Given the description of an element on the screen output the (x, y) to click on. 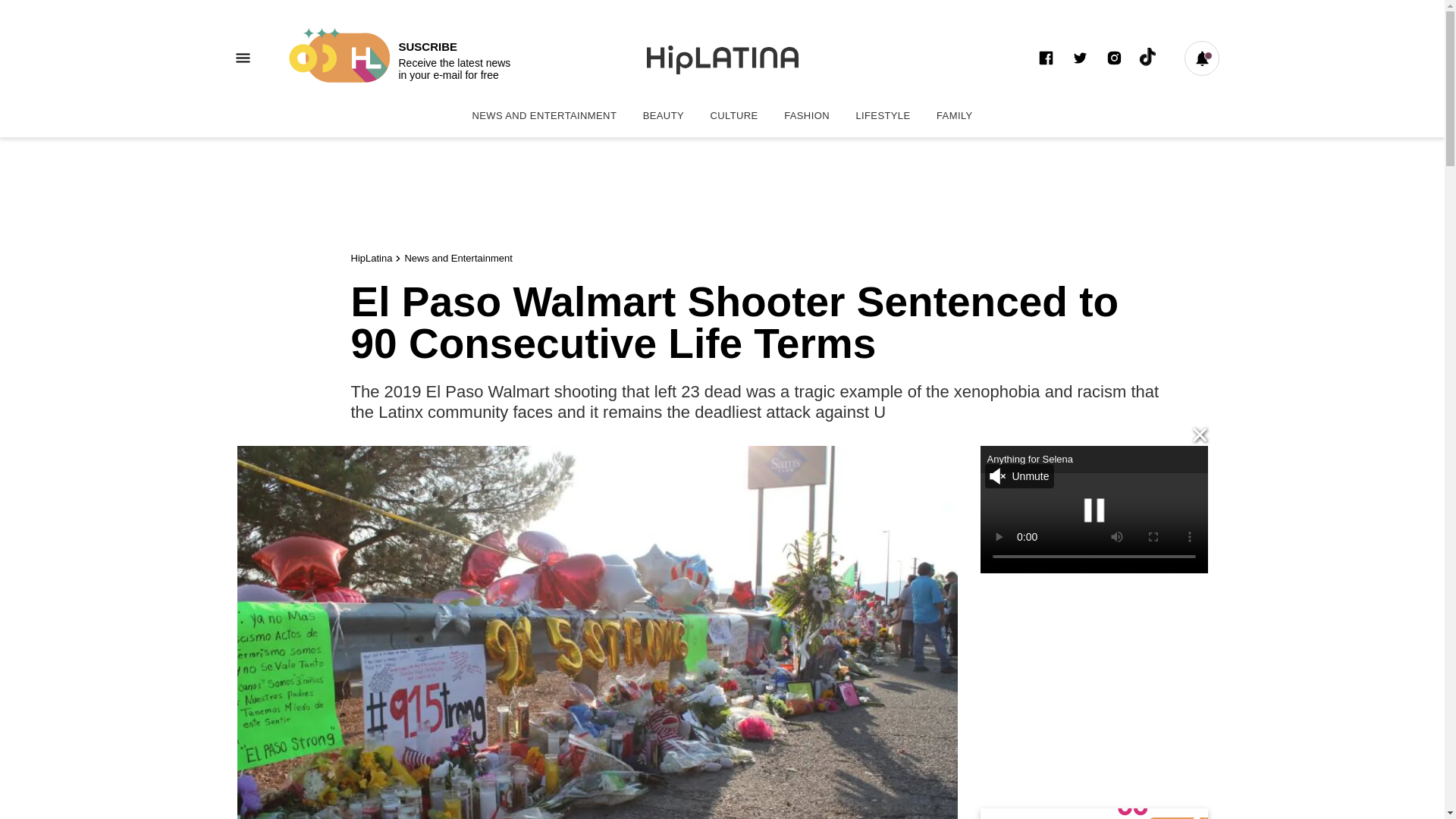
HipLatina (370, 258)
FAMILY (954, 115)
Seguir a HipLatina en Tiktok (1148, 57)
Beauty (663, 115)
NEWS AND ENTERTAINMENT (543, 115)
BEAUTY (663, 115)
News and Entertainment (543, 115)
Lifestyle (882, 115)
LIFESTYLE (882, 115)
Fashion (807, 115)
